Given the description of an element on the screen output the (x, y) to click on. 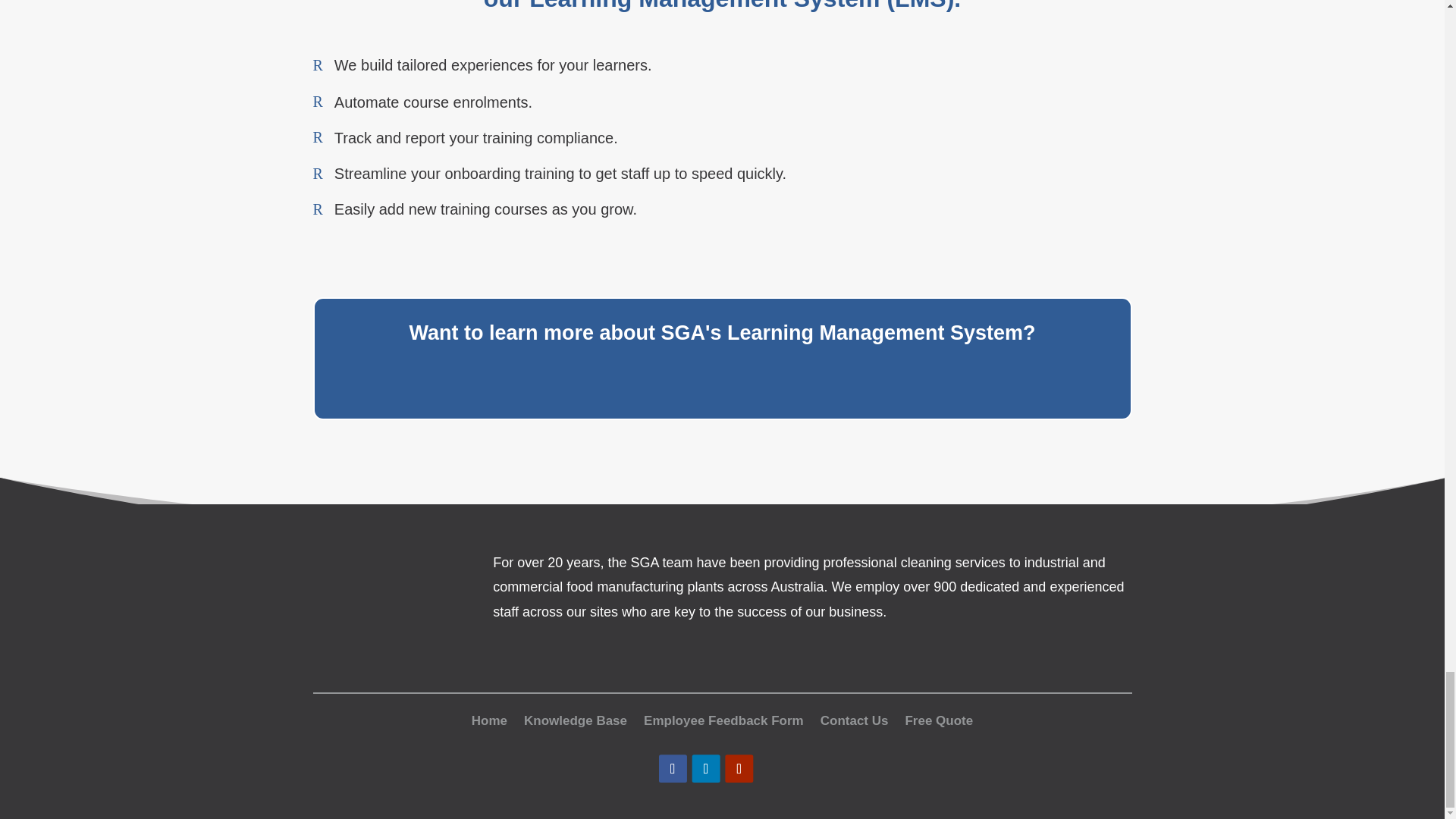
Follow on LinkedIn (708, 770)
Home (488, 718)
Free Quote (938, 718)
Knowledge Base (575, 718)
Follow on  (775, 770)
Employee Feedback Form (723, 718)
Follow on Youtube (741, 770)
Contact Us (854, 718)
Follow on Facebook (674, 770)
